Given the description of an element on the screen output the (x, y) to click on. 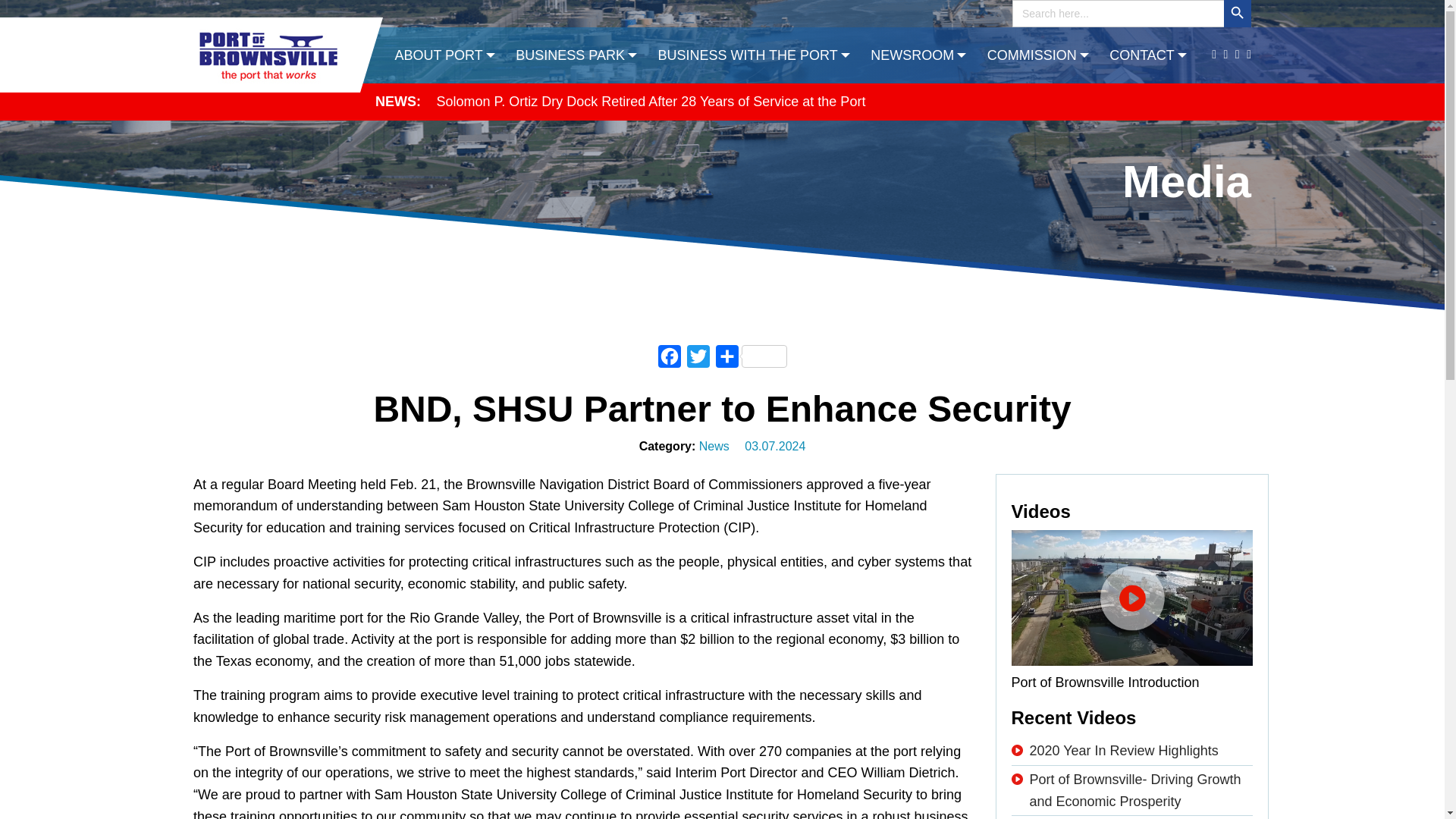
Facebook (669, 359)
Port of Brownsville- Driving Growth and Economic Prosperity (1135, 790)
ABOUT PORT (445, 55)
Twitter (698, 359)
Search Button (1237, 13)
2020 Year In Review Highlights (1123, 750)
